Given the description of an element on the screen output the (x, y) to click on. 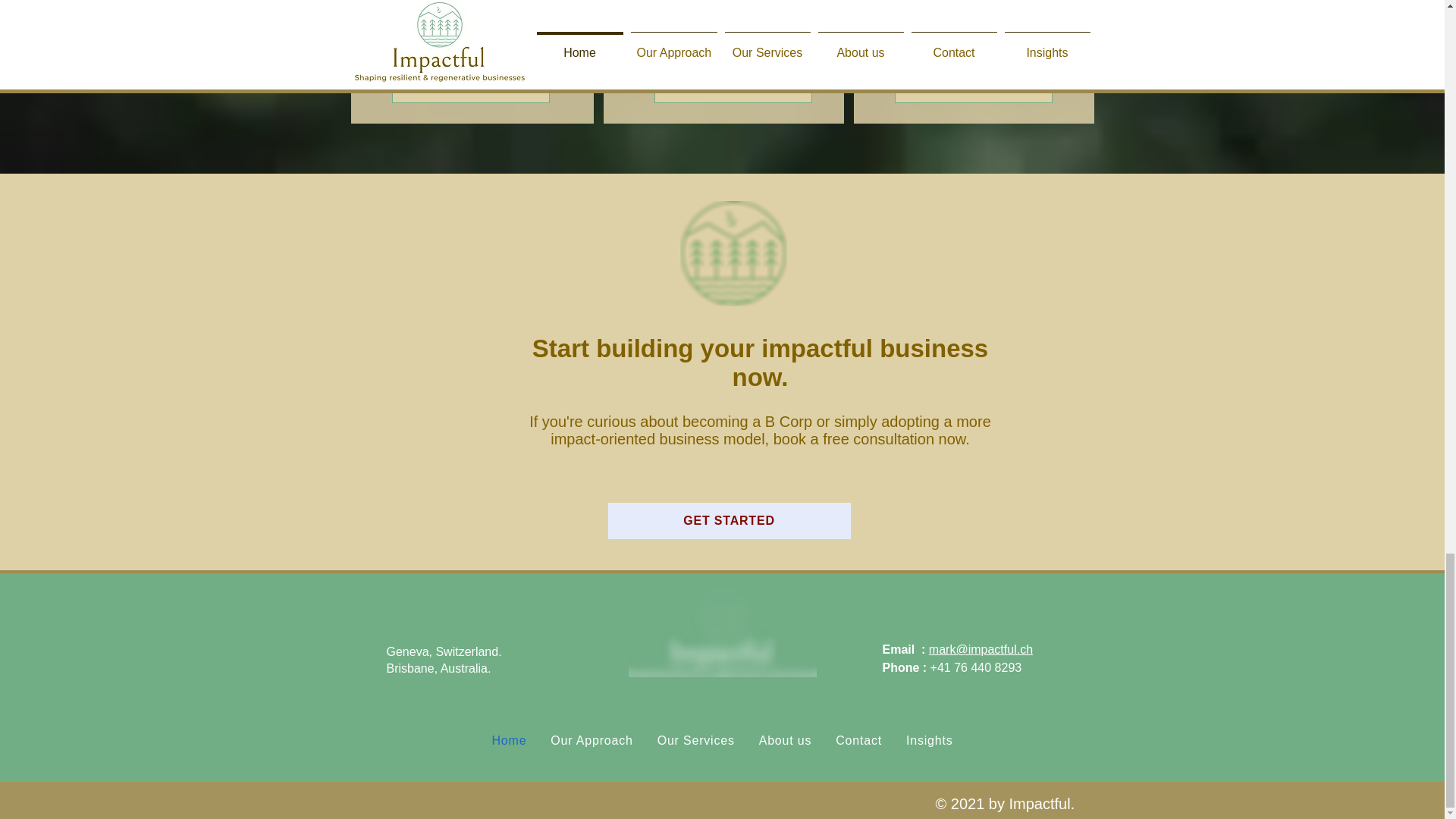
Insights (929, 740)
LEARN MORE (731, 89)
LEARN MORE (469, 89)
Our Approach (591, 740)
GET STARTED (729, 520)
Home (508, 740)
LEARN MORE (973, 89)
Our Services (695, 740)
Contact (859, 740)
About us (785, 740)
